Given the description of an element on the screen output the (x, y) to click on. 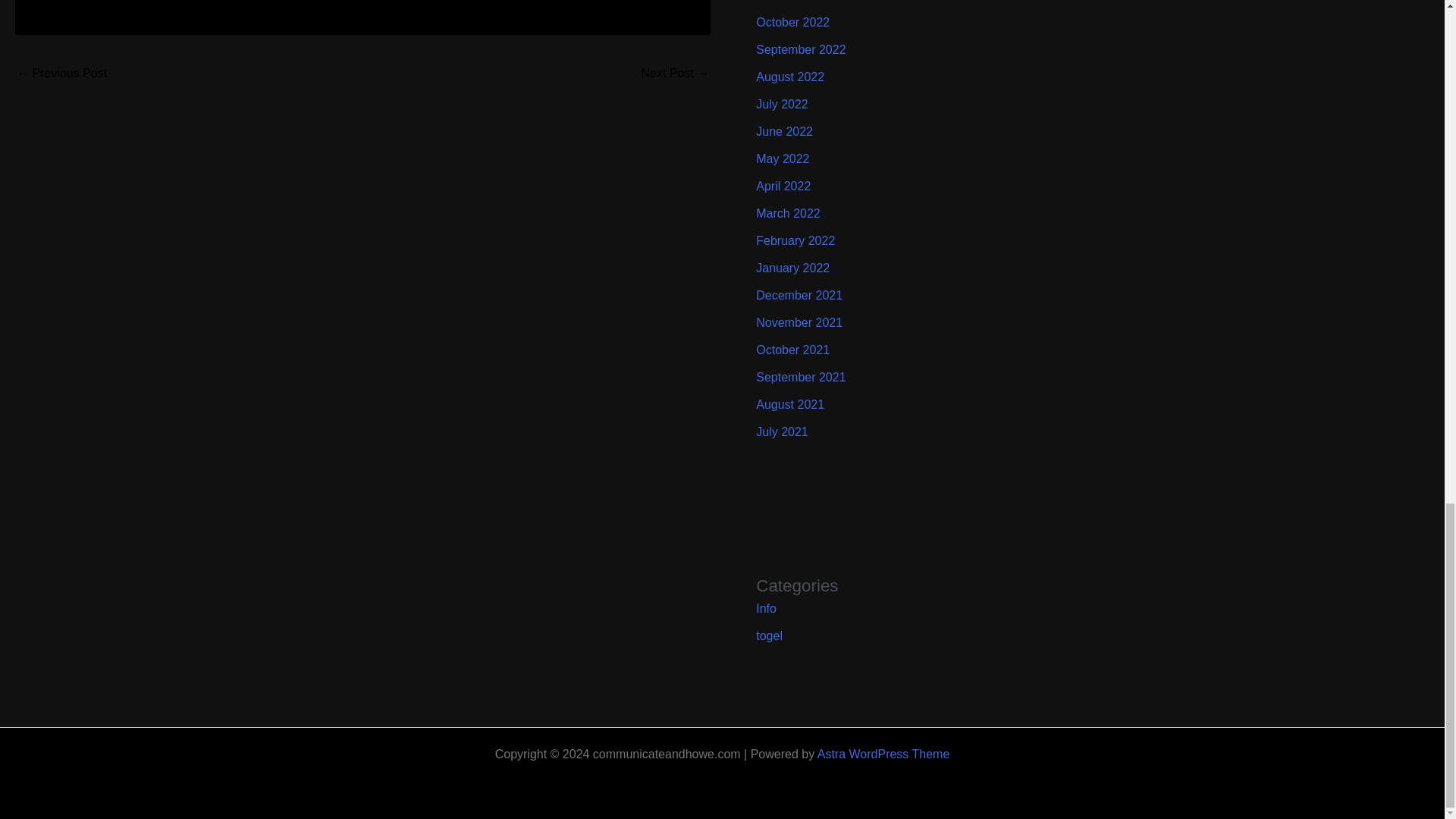
The Basics of Poker (674, 74)
October 2022 (792, 21)
What Is a Sportsbook? (61, 74)
September 2022 (800, 49)
November 2022 (799, 0)
